Given the description of an element on the screen output the (x, y) to click on. 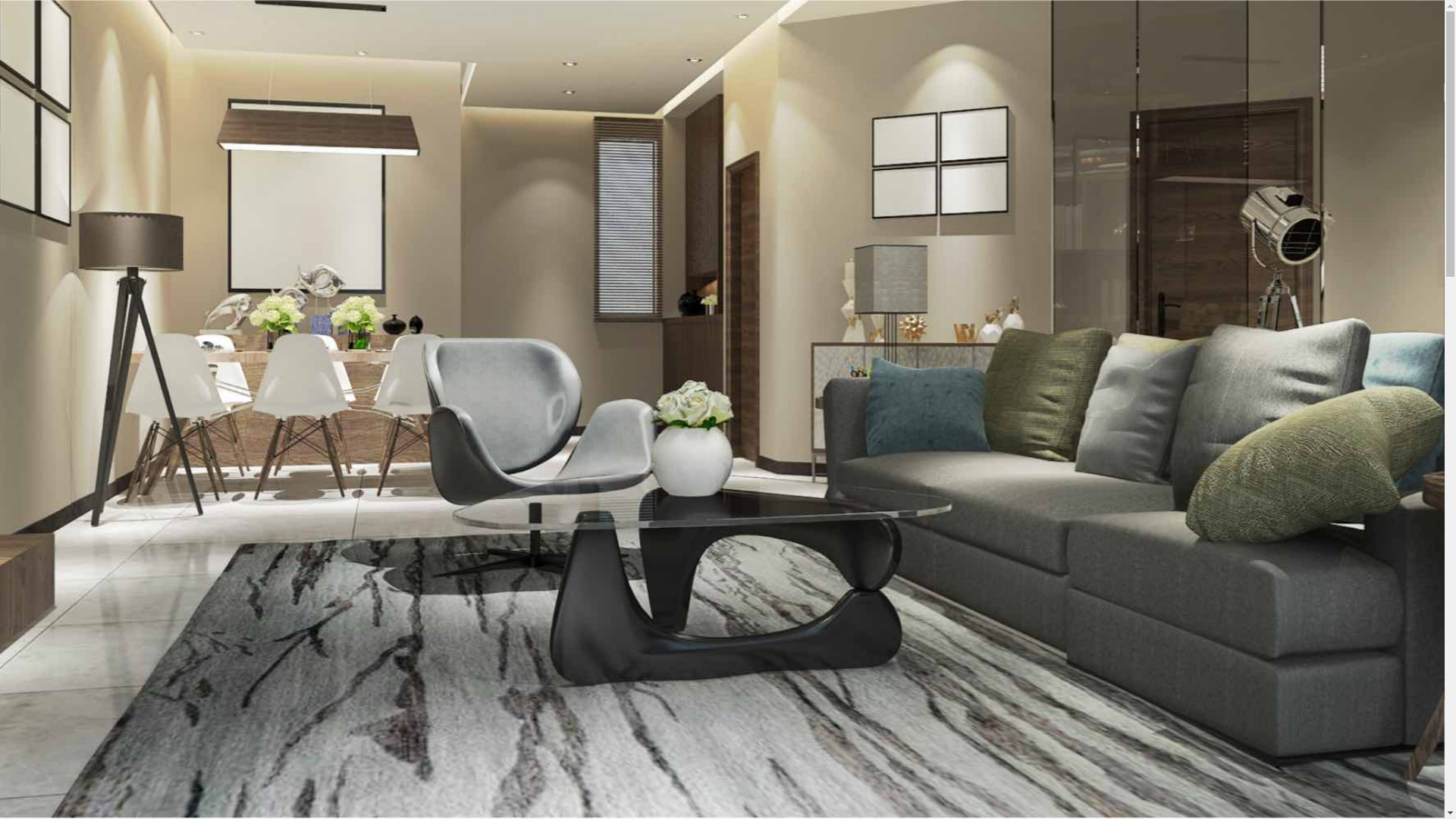
Facebook (5, 111)
Twitter (31, 111)
Book a Consultation (51, 92)
Visit Paul Nusca's Facebook (5, 111)
Visit Paul Nusca's Instagram (15, 111)
LinkedIn (23, 111)
Visit Paul Nusca's LinkedIn (23, 111)
Paul Nusca (98, 41)
Visit Paul Nusca's Twitter (31, 111)
Instagram (15, 111)
